Given the description of an element on the screen output the (x, y) to click on. 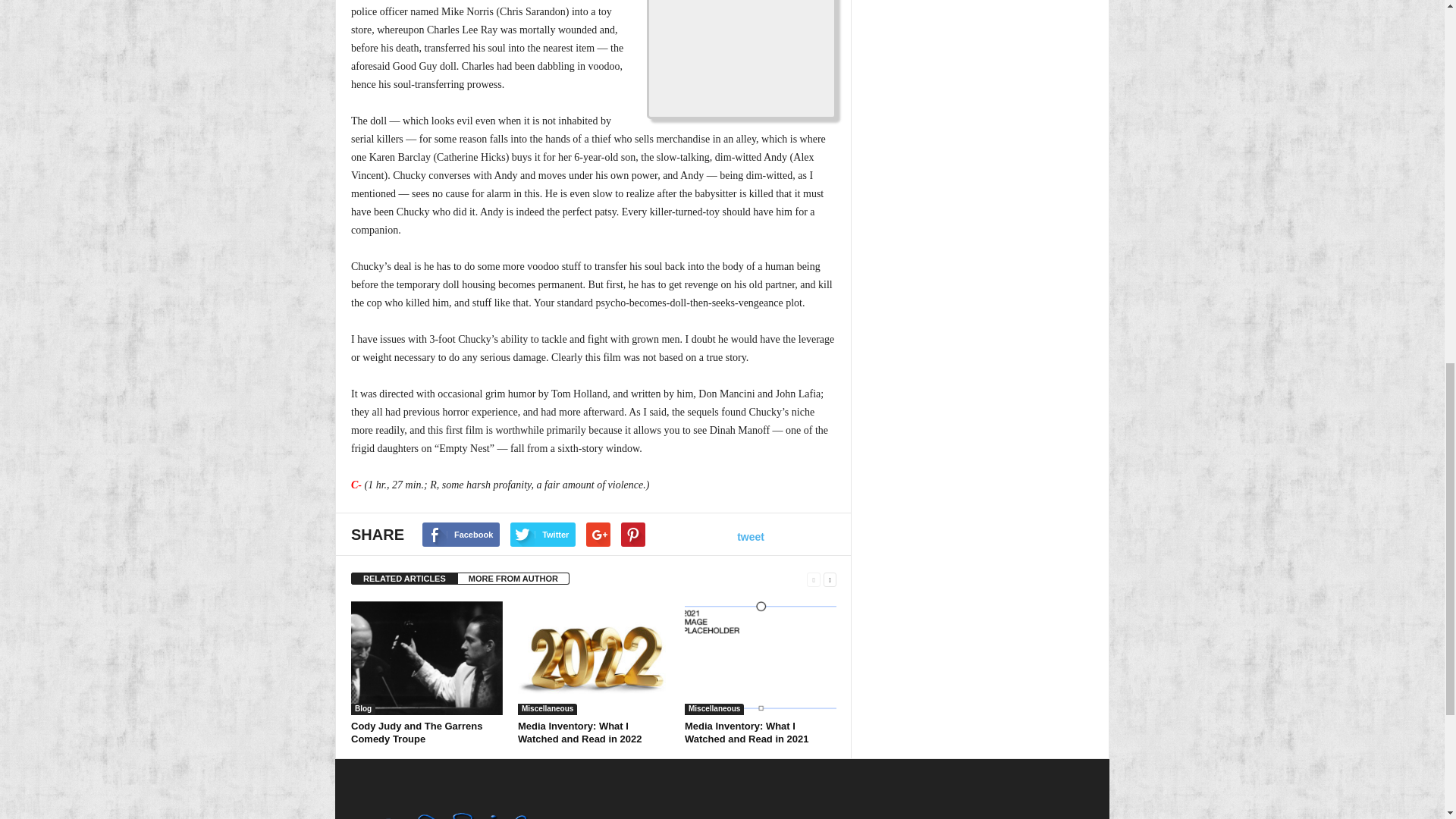
Media Inventory: What I Watched and Read in 2021 (759, 657)
Cody Judy and The Garrens Comedy Troupe (415, 732)
Media Inventory: What I Watched and Read in 2021 (746, 732)
Cody Judy and The Garrens Comedy Troupe (426, 657)
Media Inventory: What I Watched and Read in 2022 (593, 657)
Media Inventory: What I Watched and Read in 2022 (580, 732)
